Given the description of an element on the screen output the (x, y) to click on. 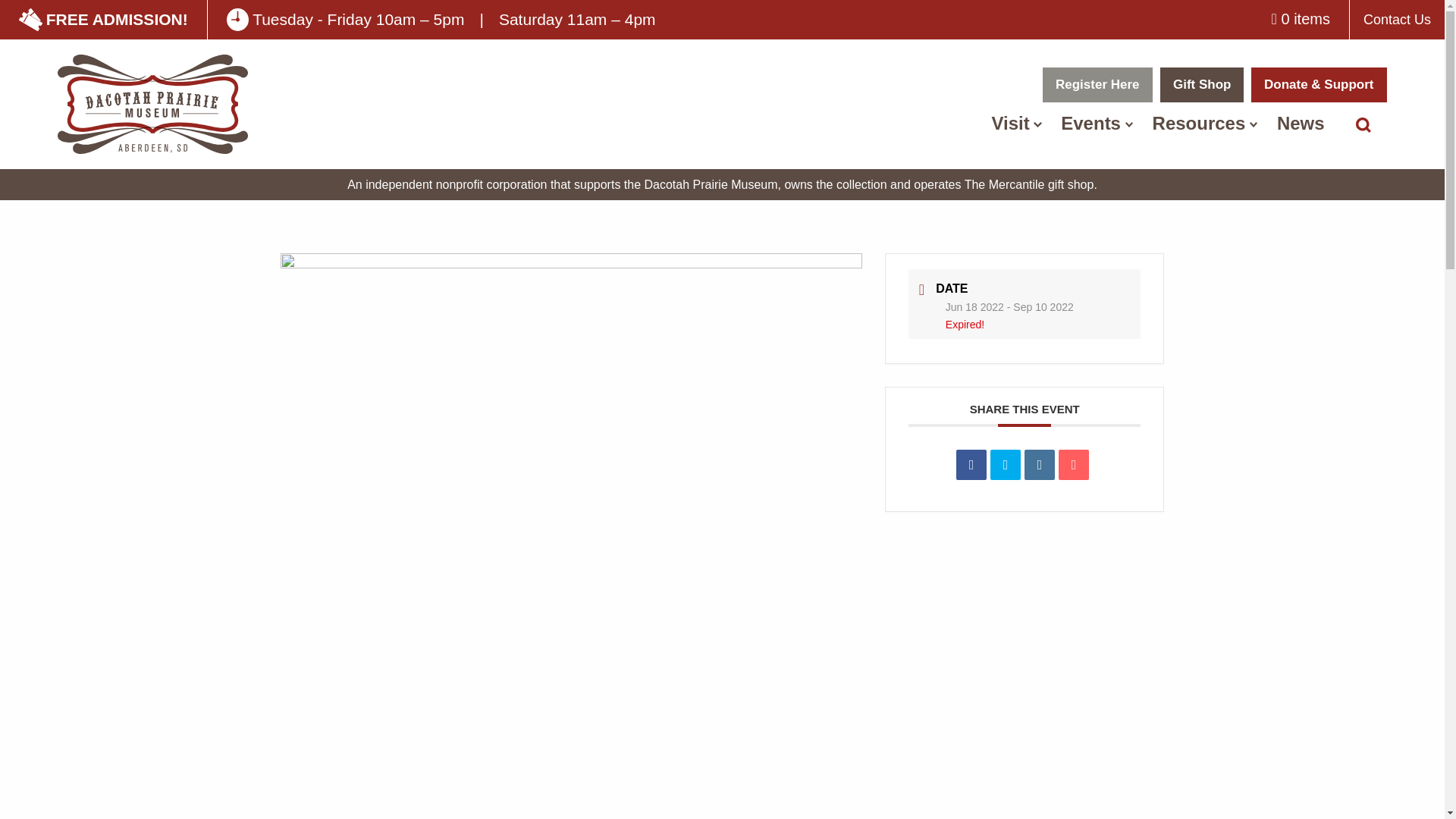
Gift Shop (1201, 84)
Register Here (1097, 84)
Resources (1198, 123)
Email (1073, 464)
Tweet (1005, 464)
0 items (1300, 18)
Events (1090, 123)
News (1299, 123)
Share on Facebook (971, 464)
Visit (1010, 123)
